Given the description of an element on the screen output the (x, y) to click on. 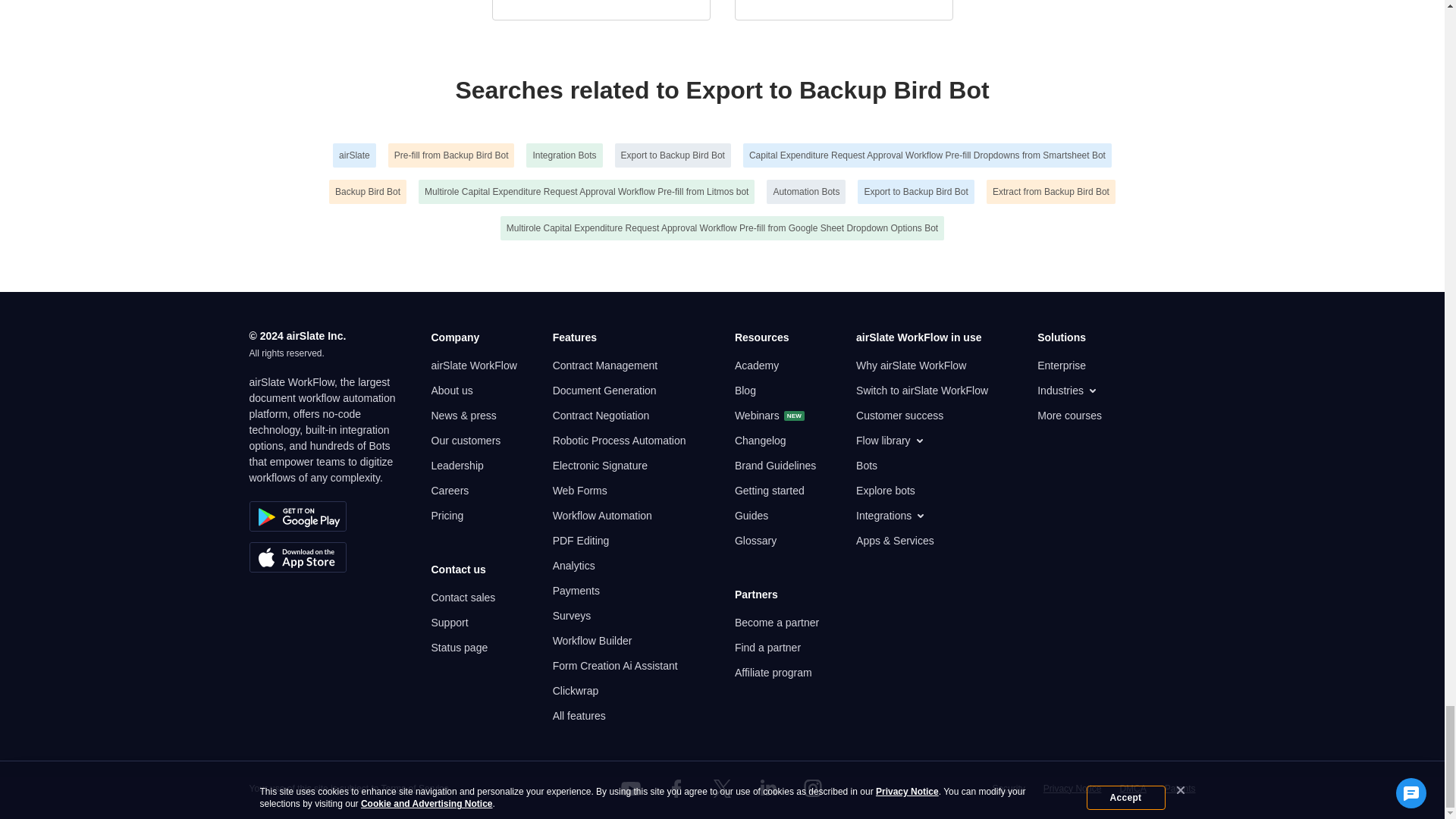
LinkedIn (767, 788)
Twitter (721, 788)
Facebook (676, 788)
YouTube (630, 788)
Instagram (812, 788)
